Given the description of an element on the screen output the (x, y) to click on. 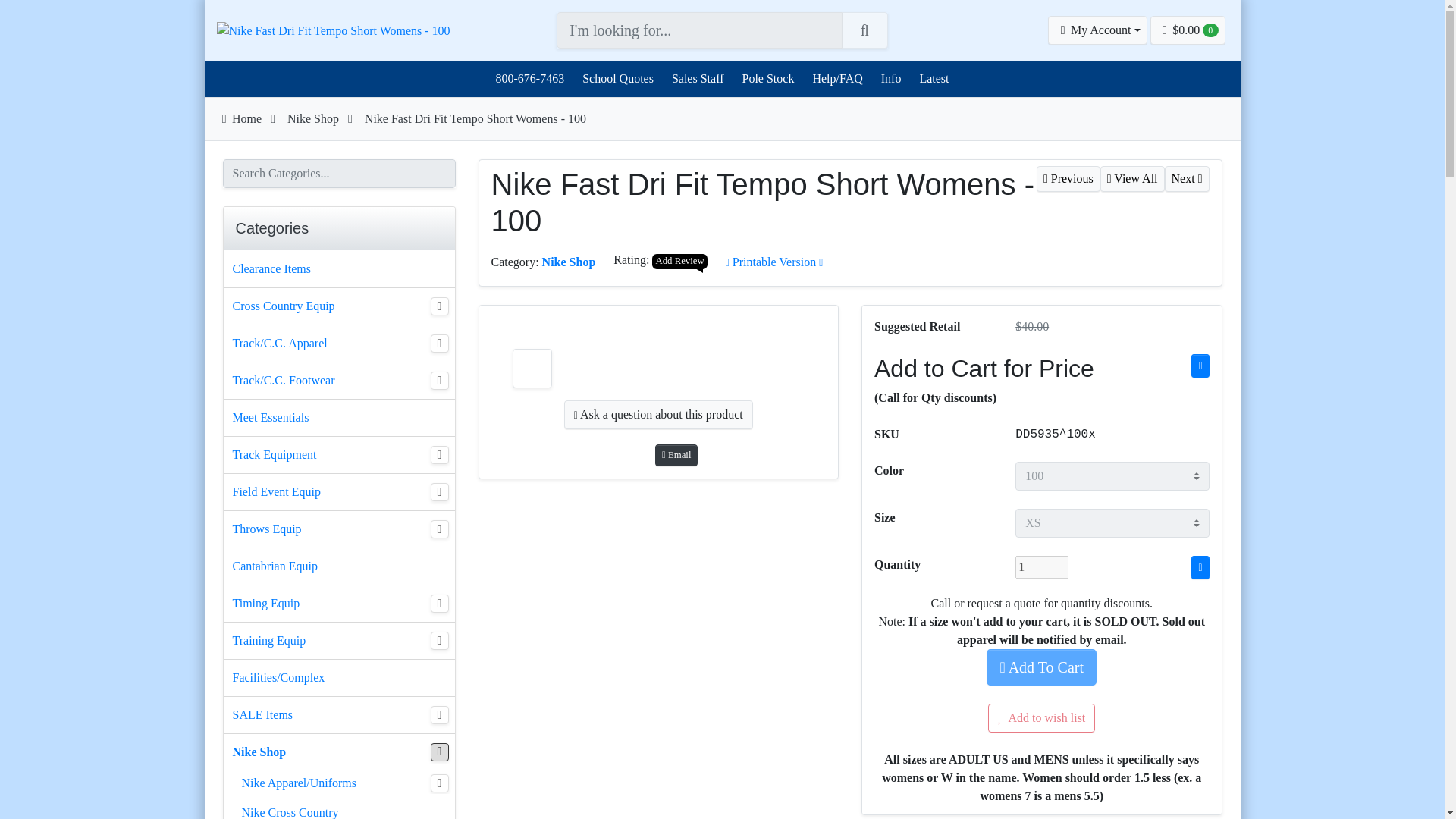
Pole Stock (767, 78)
Nike Fast Dri Fit Tempo Short Womens - 100 (332, 31)
Add to wish list (1041, 717)
Previous (1068, 178)
Your Cart (1187, 30)
Latest (933, 78)
Nike Shop (312, 118)
Info (891, 78)
Home (239, 118)
Printable Version (774, 261)
My Account (1097, 30)
800-676-7463 (529, 78)
Nike Shop (568, 261)
Sales Staff (697, 78)
My Account (1097, 30)
